Given the description of an element on the screen output the (x, y) to click on. 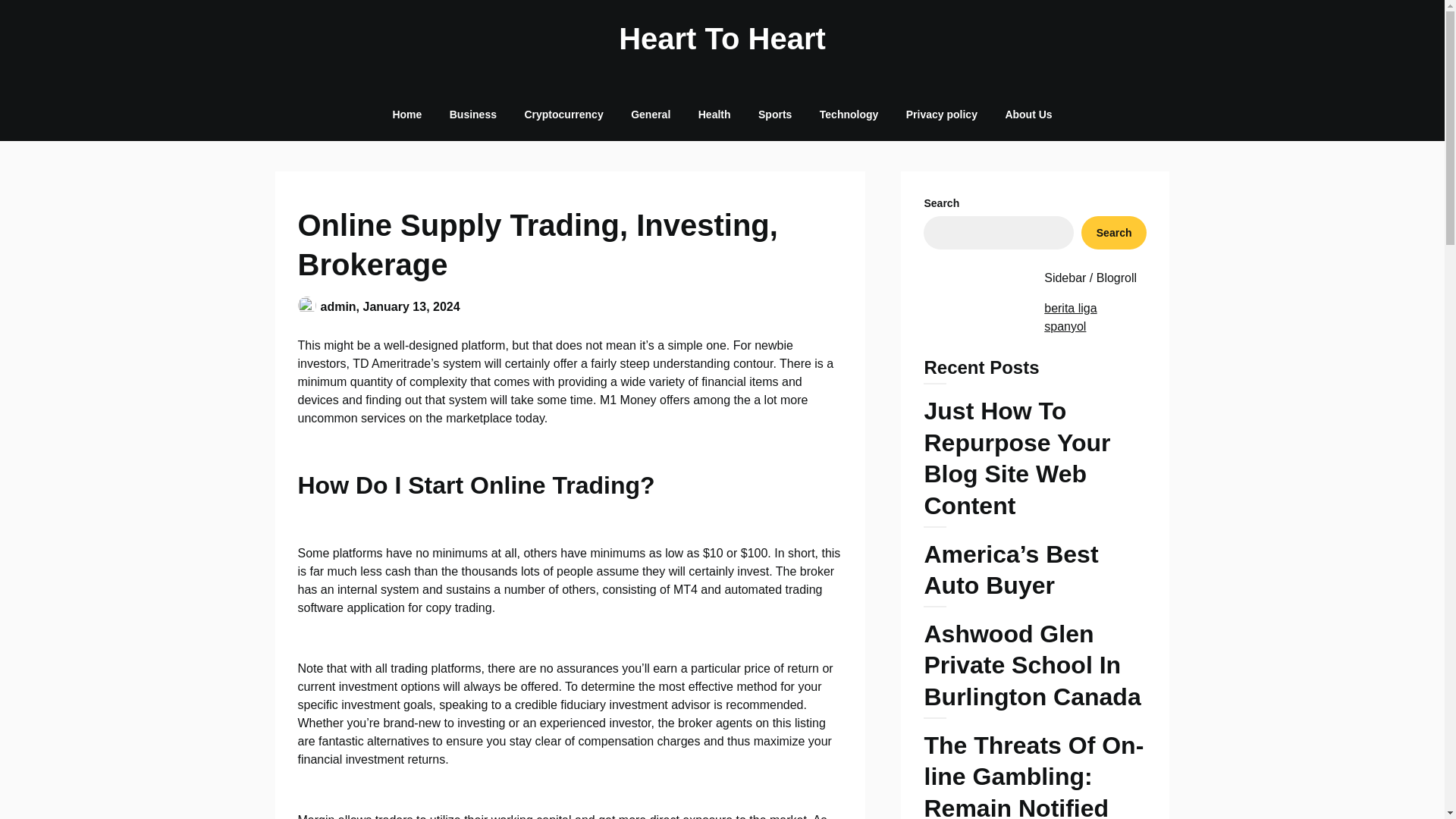
Just How To Repurpose Your Blog Site Web Content (1035, 461)
Health (713, 114)
The Threats Of On-line Gambling: Remain Notified (1035, 774)
Sports (774, 114)
Heart To Heart (722, 38)
Technology (849, 114)
Ashwood Glen Private School In Burlington Canada (1035, 669)
January 13, 2024 (411, 306)
Home (406, 114)
berita liga spanyol (1069, 317)
